Given the description of an element on the screen output the (x, y) to click on. 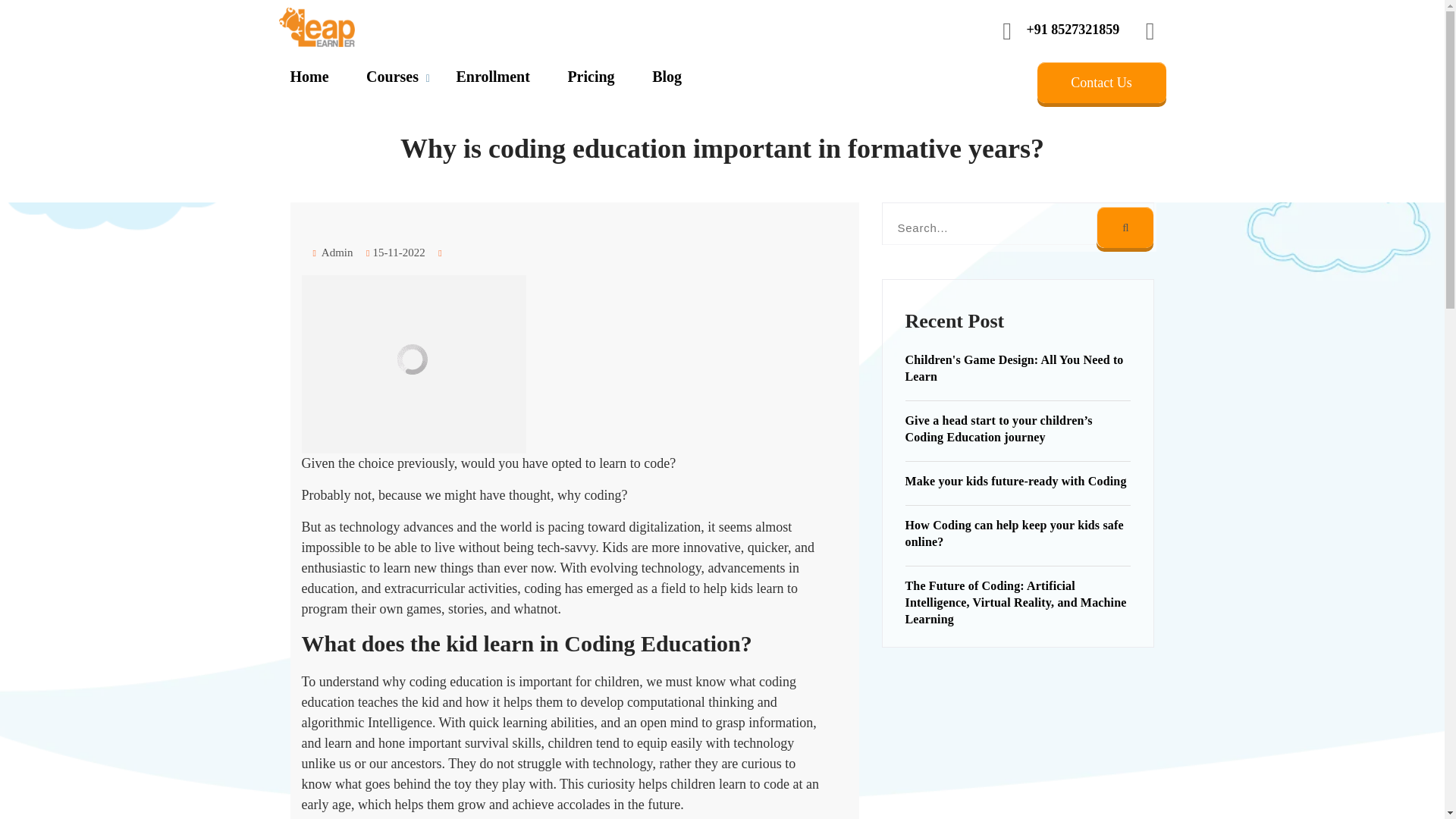
Home (309, 76)
Courses (392, 76)
Enrollment (492, 76)
Contact Us (1101, 82)
Admin (332, 252)
Children's Game Design: All You Need to Learn (1014, 367)
Make your kids future-ready with Coding (1015, 481)
How Coding can help keep your kids safe online? (1014, 532)
15-11-2022 (395, 252)
Pricing (590, 76)
